Given the description of an element on the screen output the (x, y) to click on. 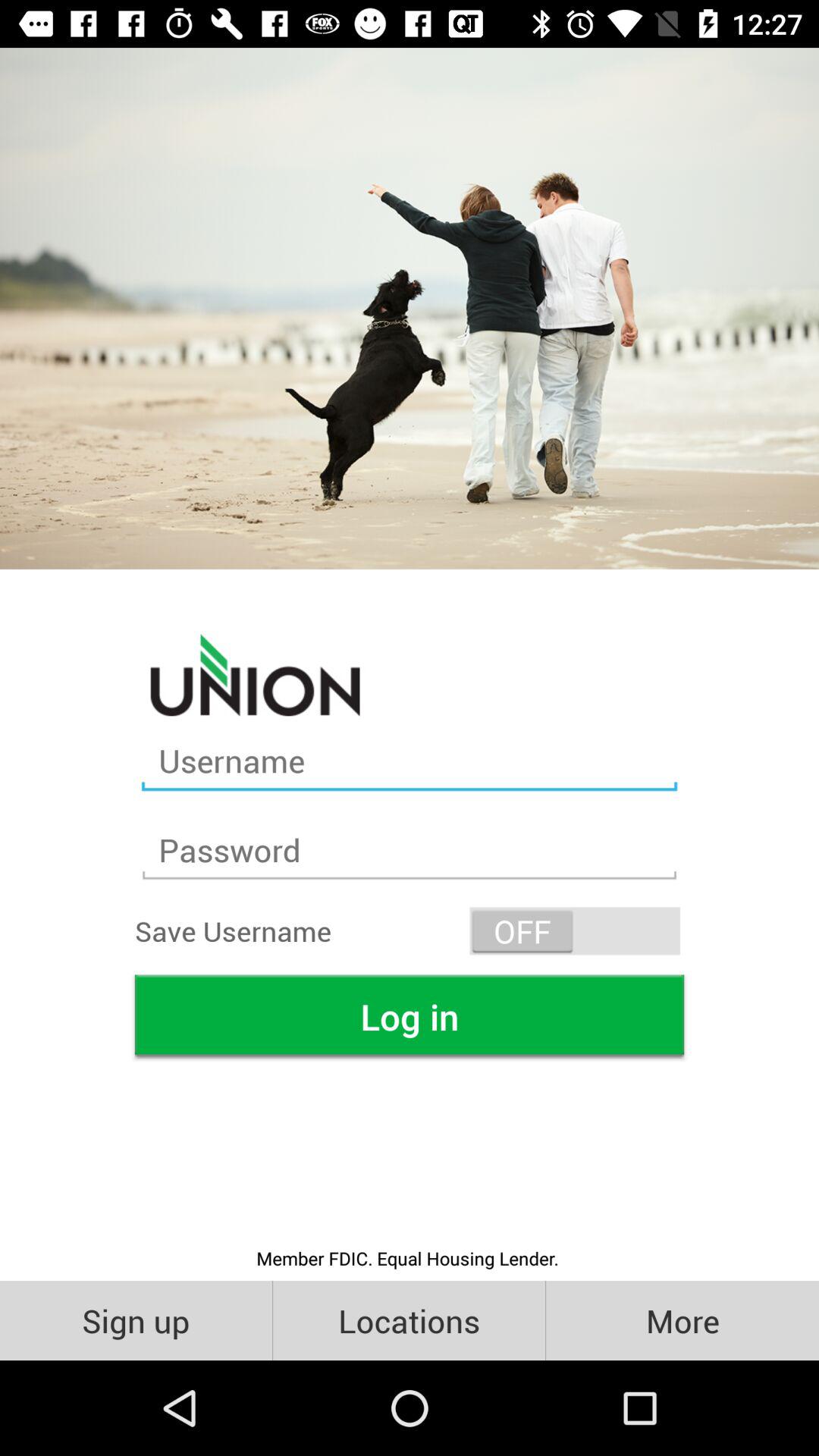
turn on the item next to the locations icon (682, 1320)
